Given the description of an element on the screen output the (x, y) to click on. 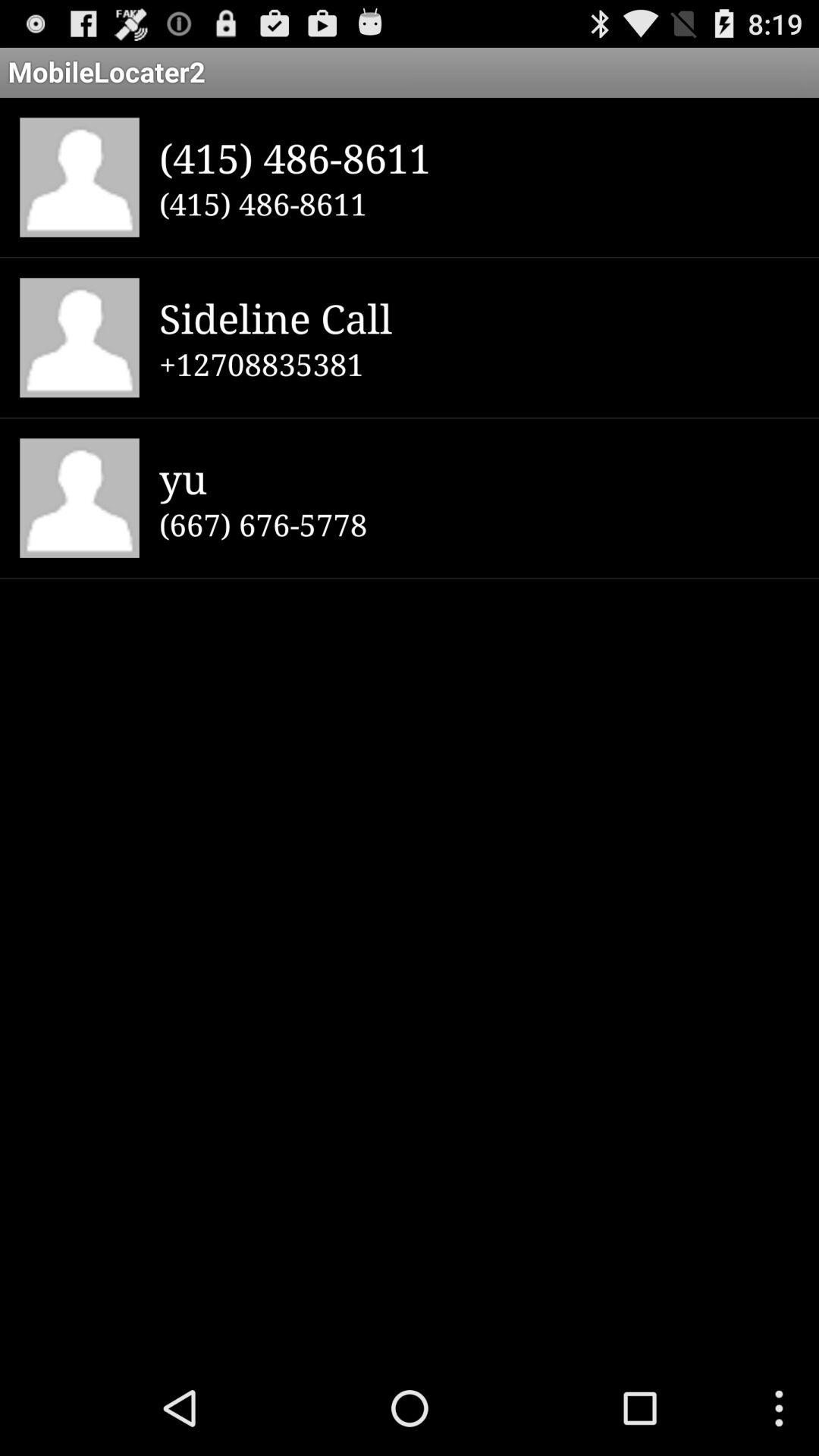
tap icon above (667) 676-5778 (479, 478)
